Given the description of an element on the screen output the (x, y) to click on. 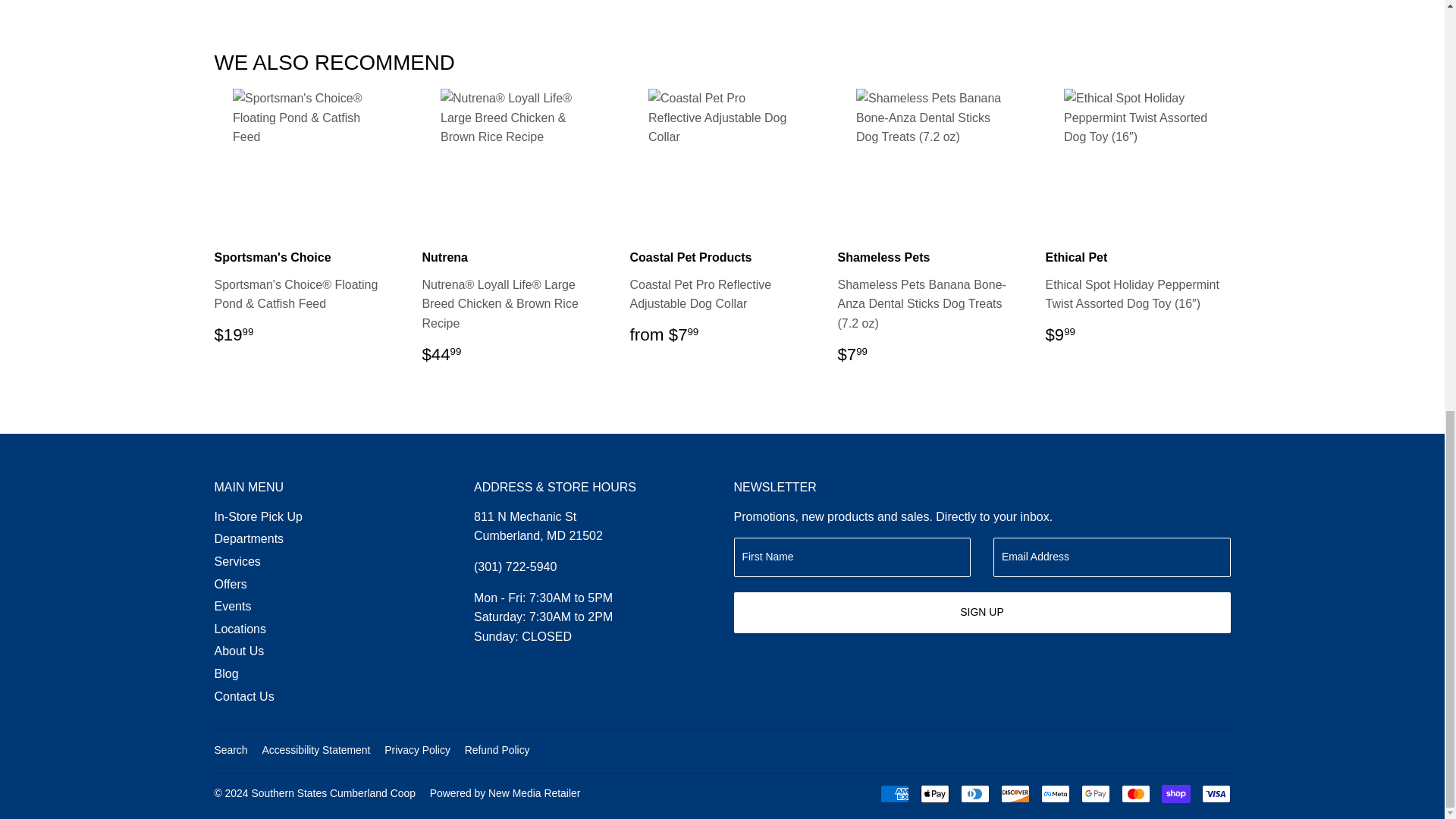
Mastercard (1135, 793)
Shop Pay (1176, 793)
Meta Pay (1054, 793)
Diners Club (973, 793)
New Media Retailer (504, 793)
Apple Pay (934, 793)
American Express (893, 793)
Google Pay (1095, 793)
Discover (1015, 793)
Visa (1215, 793)
